Given the description of an element on the screen output the (x, y) to click on. 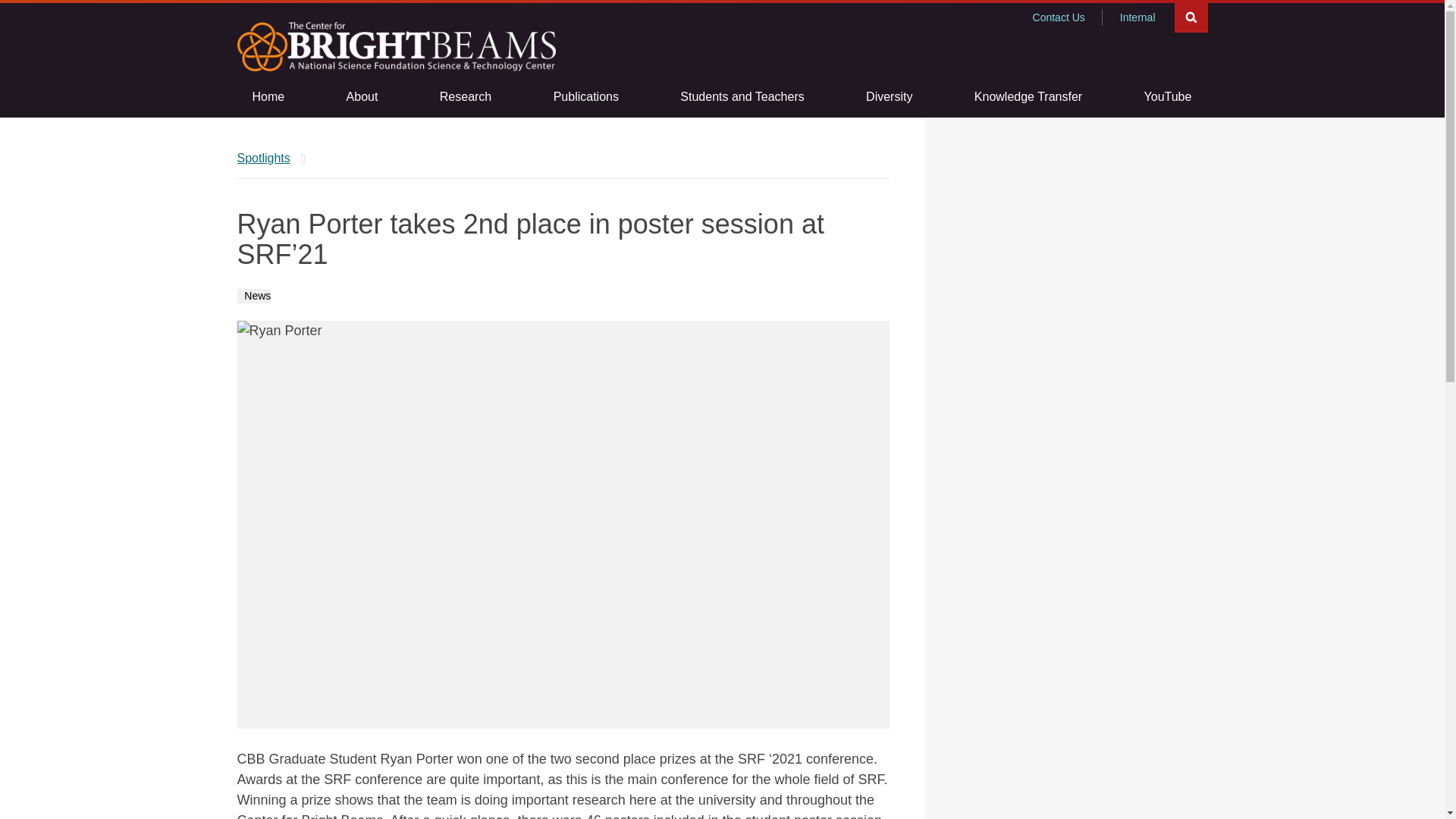
Toggle Search Form (1190, 16)
Students and Teachers (741, 96)
Publications (585, 96)
Research (465, 96)
Diversity (888, 96)
Contact Us (1059, 17)
About (362, 96)
Knowledge Transfer (1028, 96)
Diversity and Inclusion at CBB (888, 96)
Internal (1137, 17)
